Given the description of an element on the screen output the (x, y) to click on. 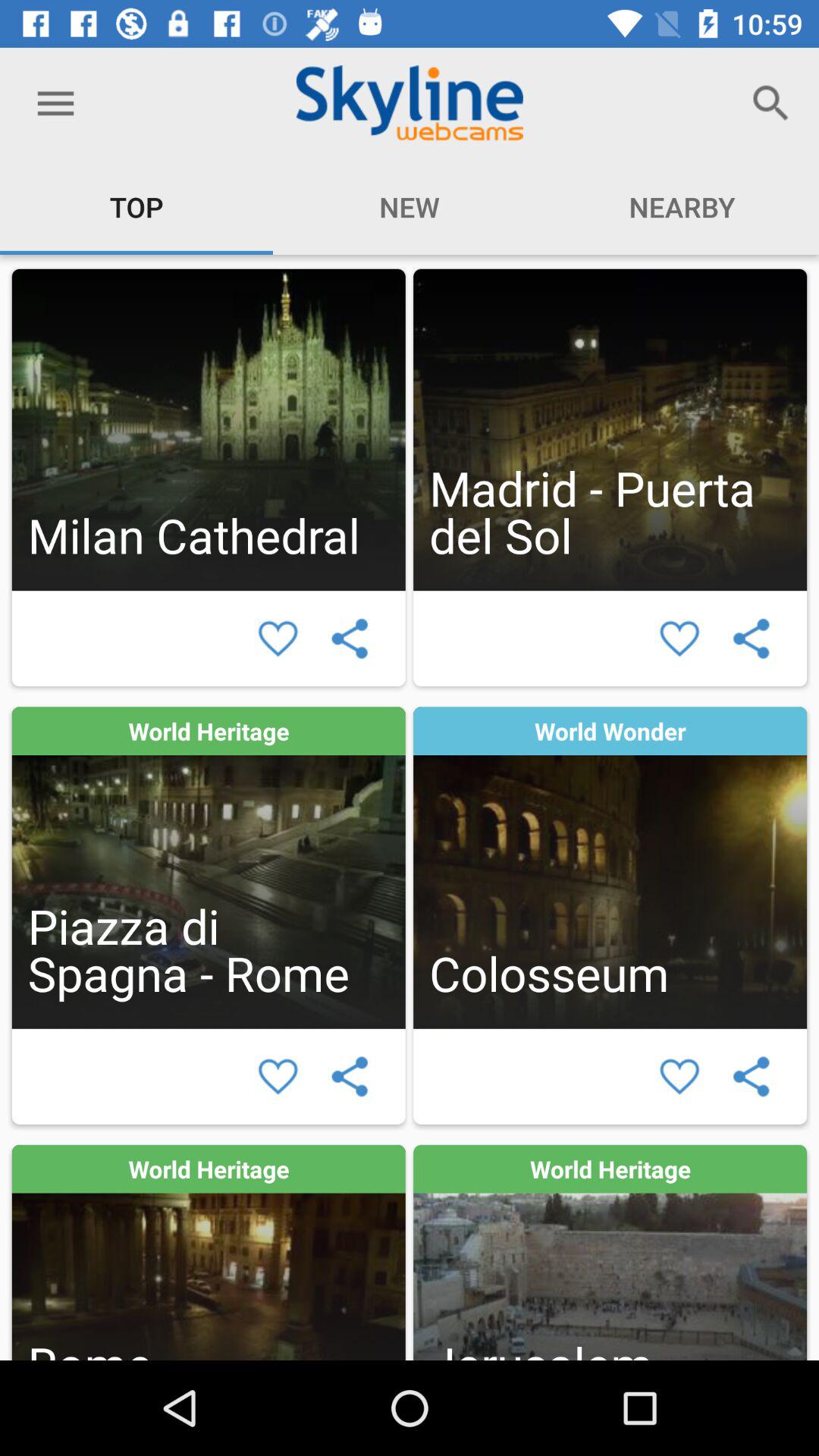
select image (610, 429)
